Given the description of an element on the screen output the (x, y) to click on. 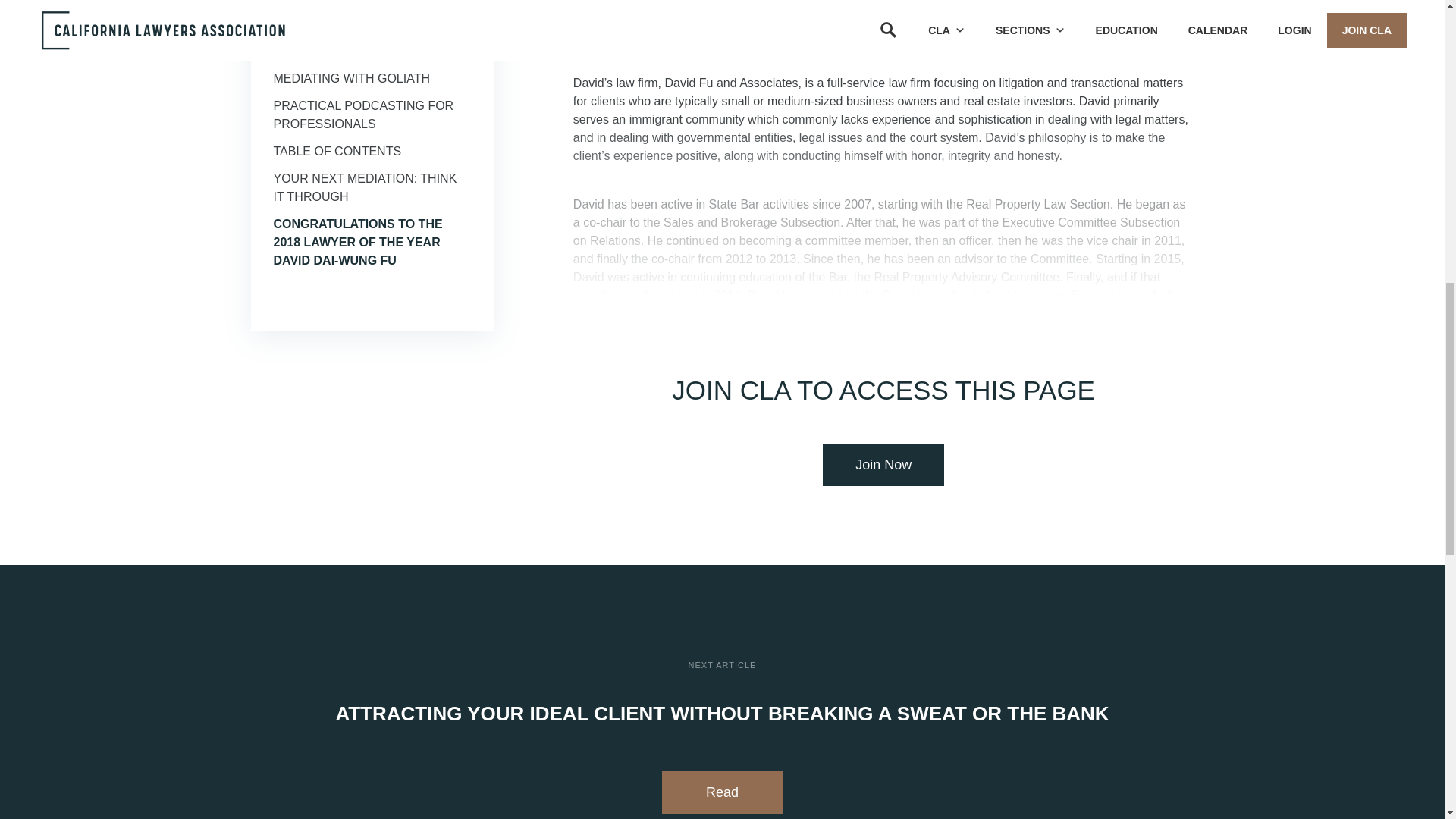
Join Now (882, 464)
MCLE Article: Ethics and Social Media: a Critical Juncture (356, 32)
Practical Podcasting For Professionals (362, 114)
Mediating with Goliath (351, 78)
Table of Contents (337, 151)
Your Next Mediation: Think It Through (365, 187)
